Given the description of an element on the screen output the (x, y) to click on. 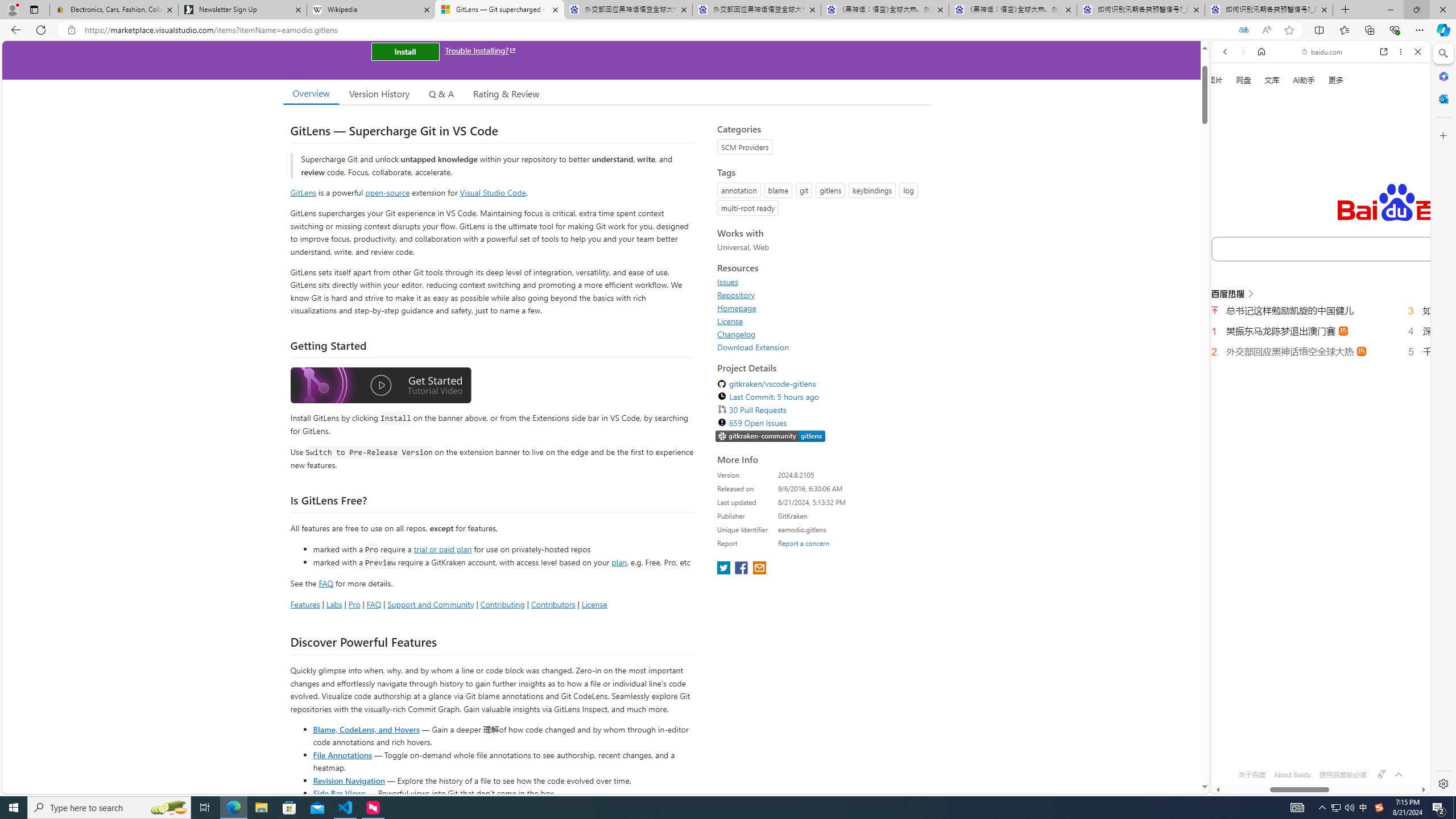
File Annotations (342, 754)
plan (618, 562)
Features (304, 603)
Translated (1243, 29)
English (US) (1320, 329)
